Given the description of an element on the screen output the (x, y) to click on. 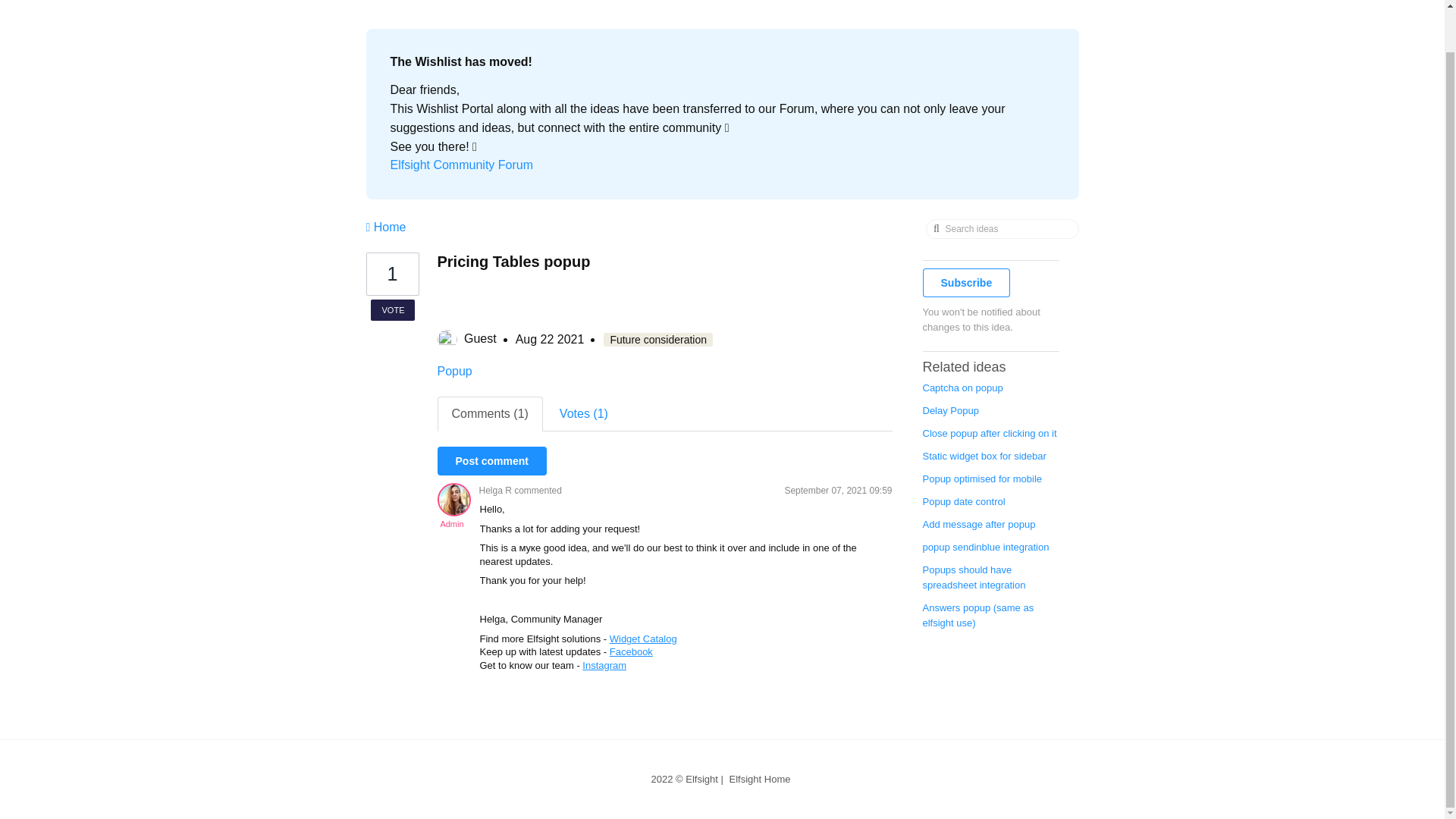
Post comment (491, 460)
Subscribe (965, 282)
popup sendinblue integration (984, 546)
Captcha on popup (962, 387)
Instagram (604, 665)
Popup (453, 370)
Delay Popup (949, 410)
Elfsight Home (759, 778)
Add message after popup (978, 523)
Home (385, 226)
